Given the description of an element on the screen output the (x, y) to click on. 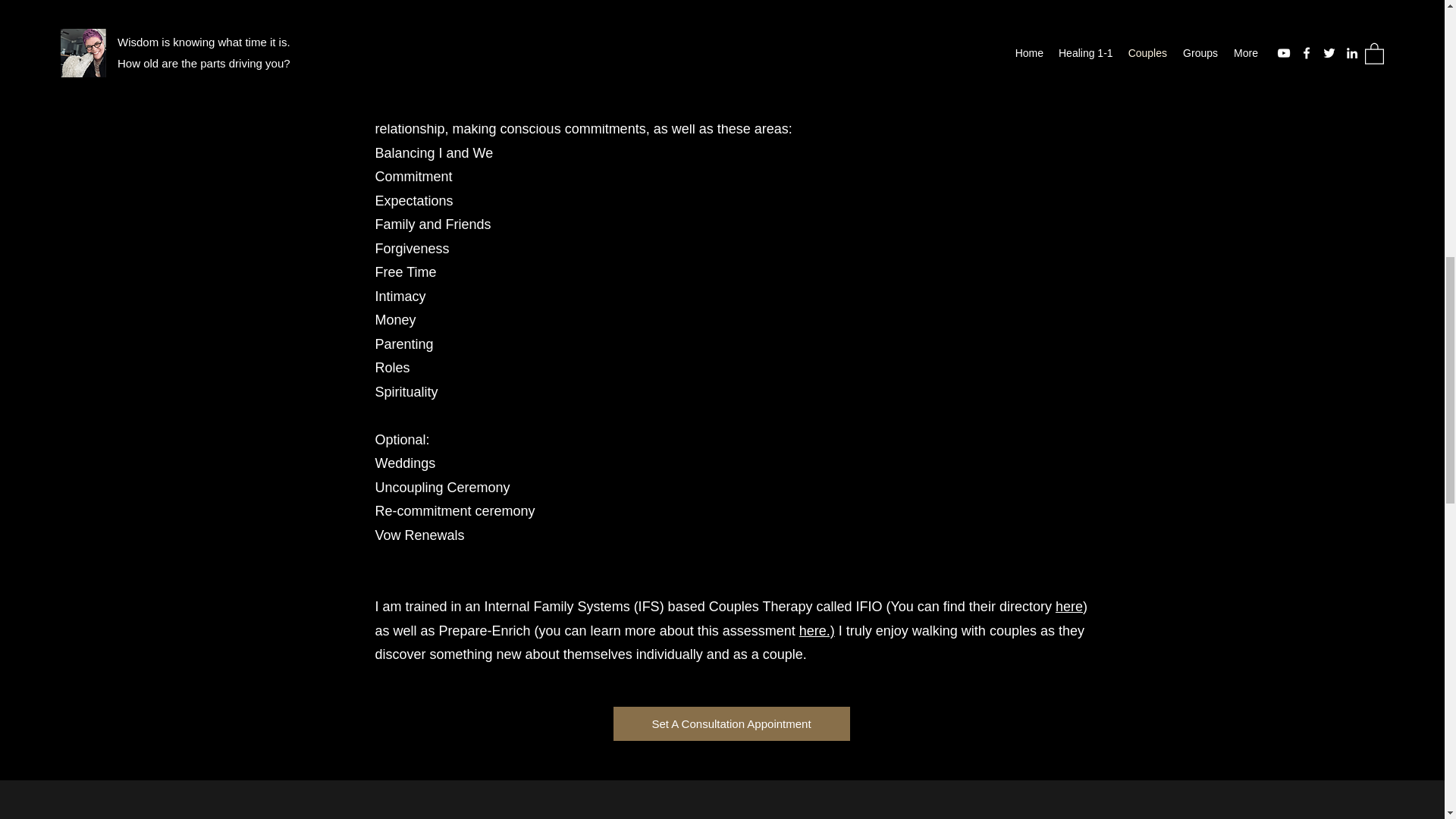
here (1069, 606)
Set A Consultation Appointment (730, 723)
